Given the description of an element on the screen output the (x, y) to click on. 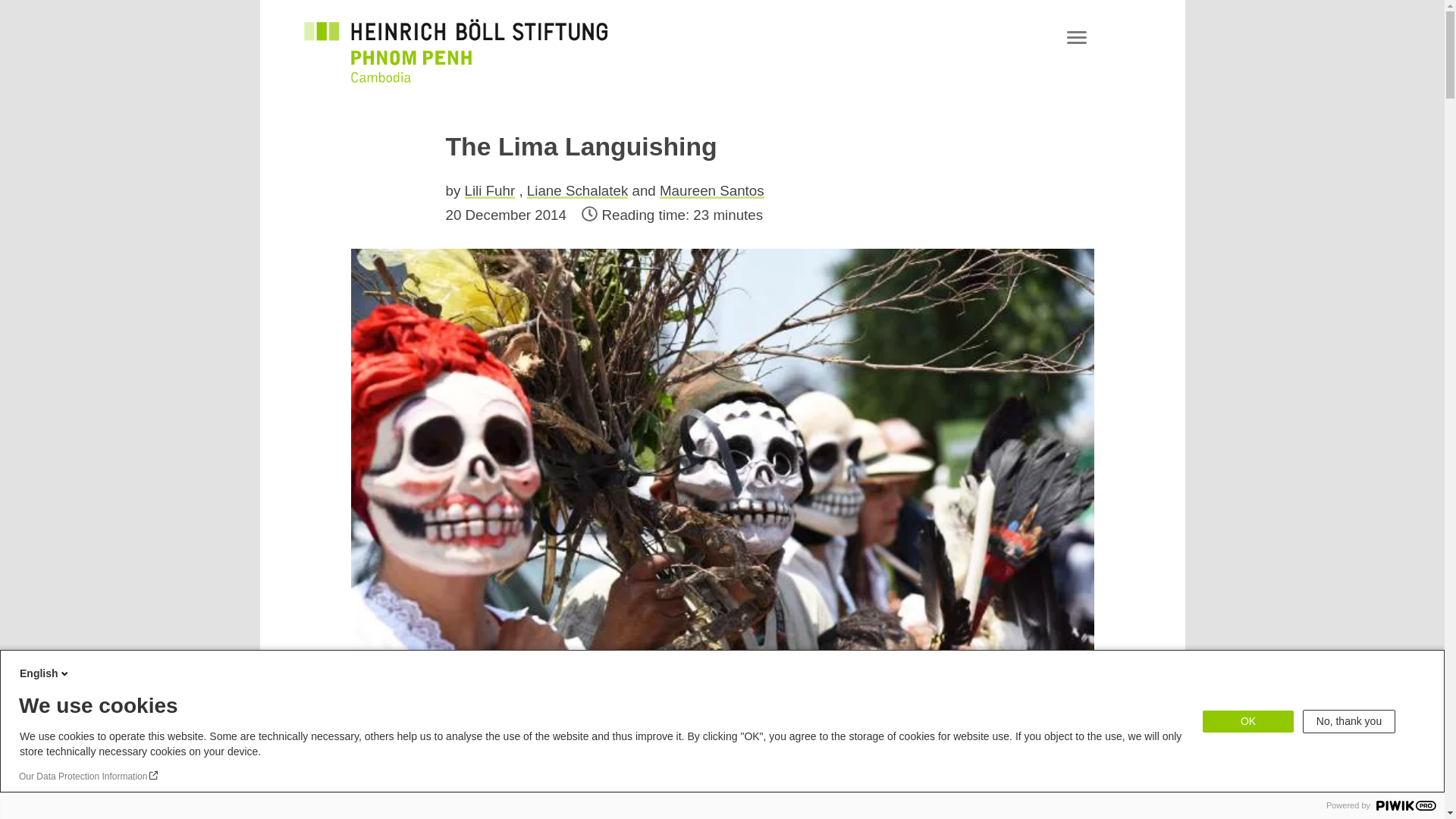
Home (454, 50)
Lili Fuhr (489, 190)
Maureen Santos (711, 190)
Liane Schalatek (577, 190)
